Given the description of an element on the screen output the (x, y) to click on. 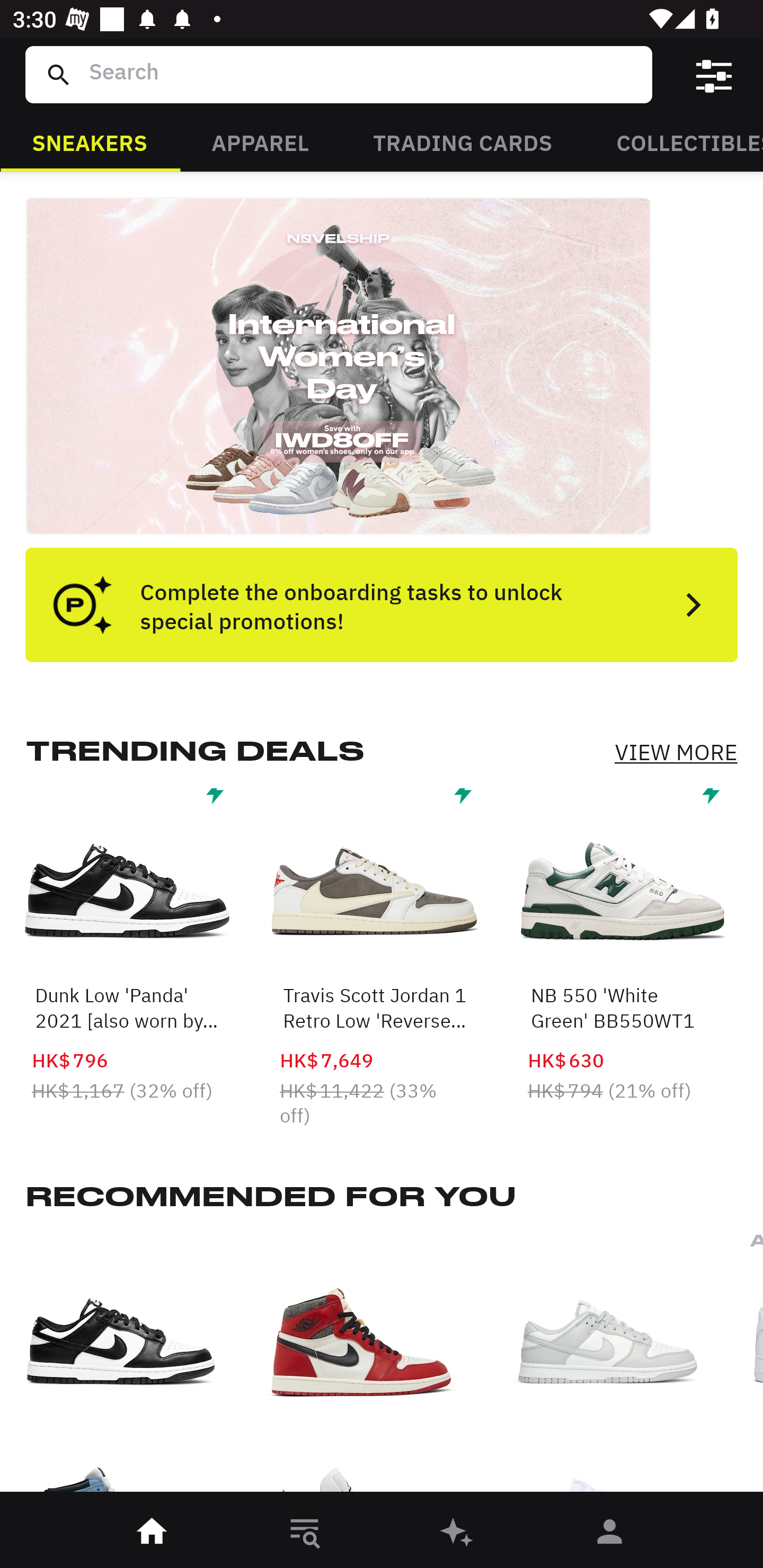
Search (358, 74)
 (713, 74)
SNEAKERS (89, 140)
APPAREL (260, 140)
TRADING CARDS (462, 140)
COLLECTIBLES (673, 140)
VIEW MORE (675, 752)
󰋜 (152, 1532)
󱎸 (305, 1532)
󰫢 (457, 1532)
󰀄 (610, 1532)
